Given the description of an element on the screen output the (x, y) to click on. 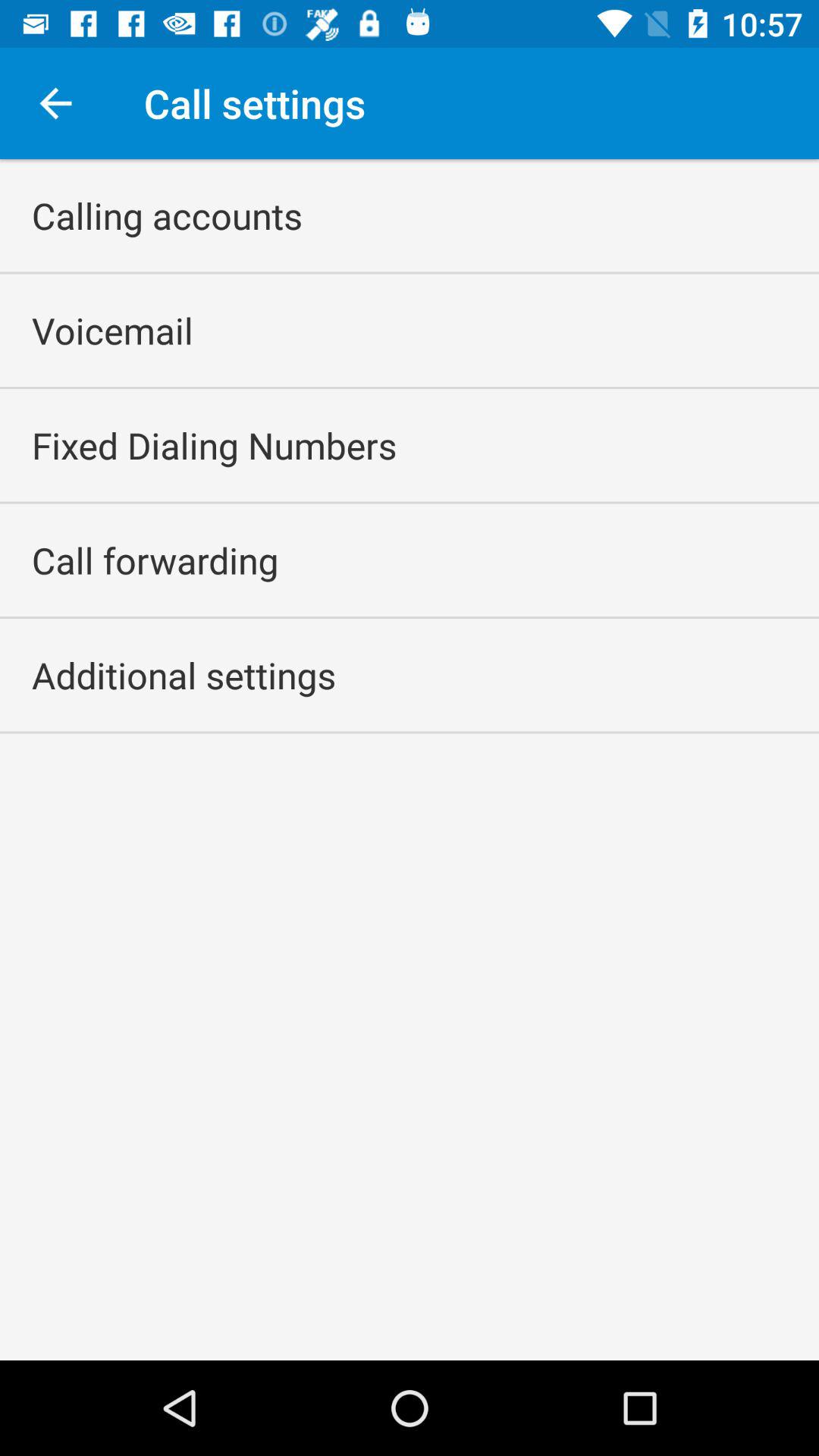
swipe to the additional settings icon (183, 674)
